Given the description of an element on the screen output the (x, y) to click on. 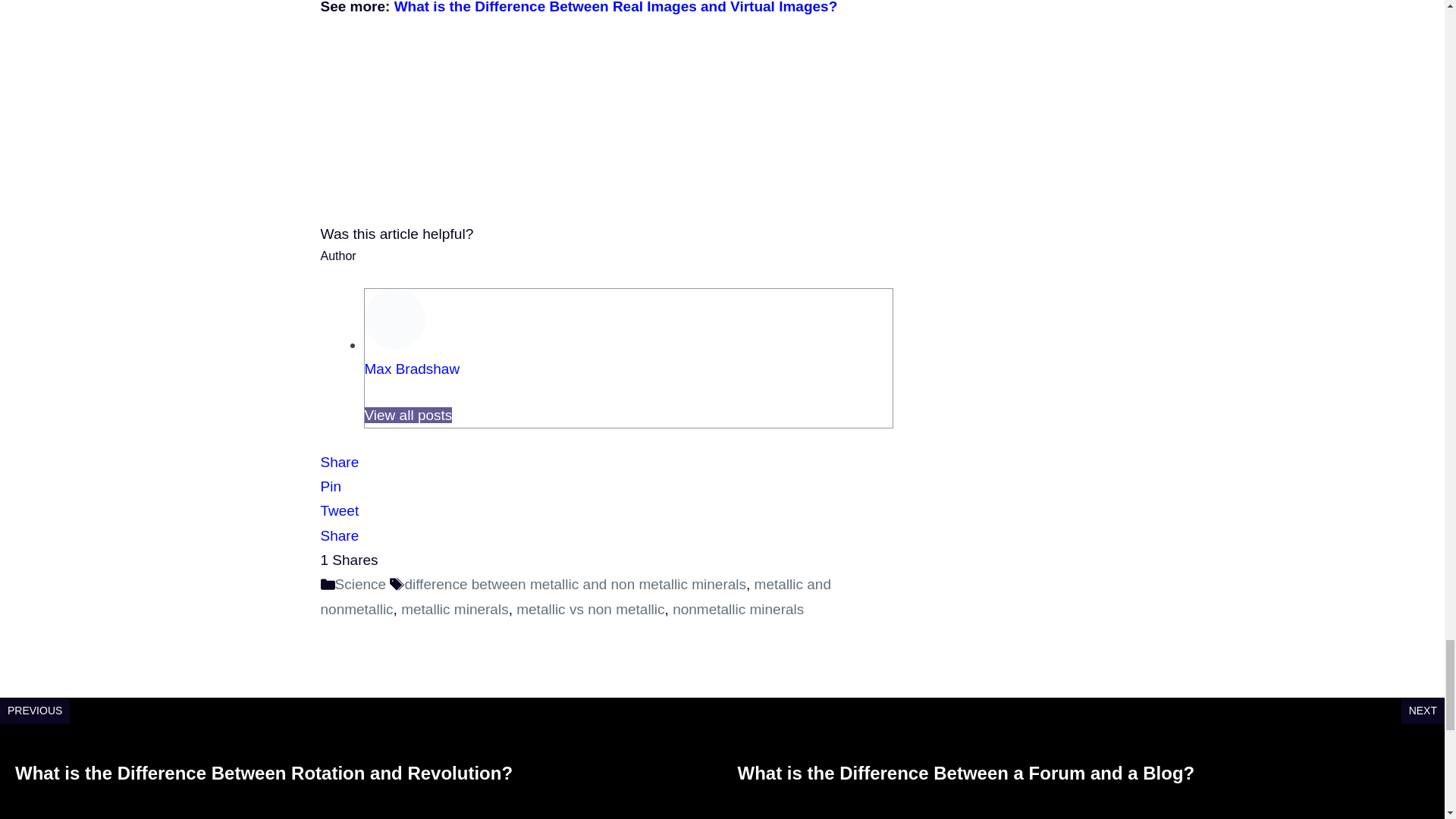
Share (339, 535)
View all posts (407, 415)
Max Bradshaw (412, 368)
Tweet (339, 510)
Science (360, 584)
Pin (330, 486)
difference between metallic and non metallic minerals (574, 584)
View all posts (407, 415)
Max Bradshaw (412, 368)
Share (339, 462)
